Given the description of an element on the screen output the (x, y) to click on. 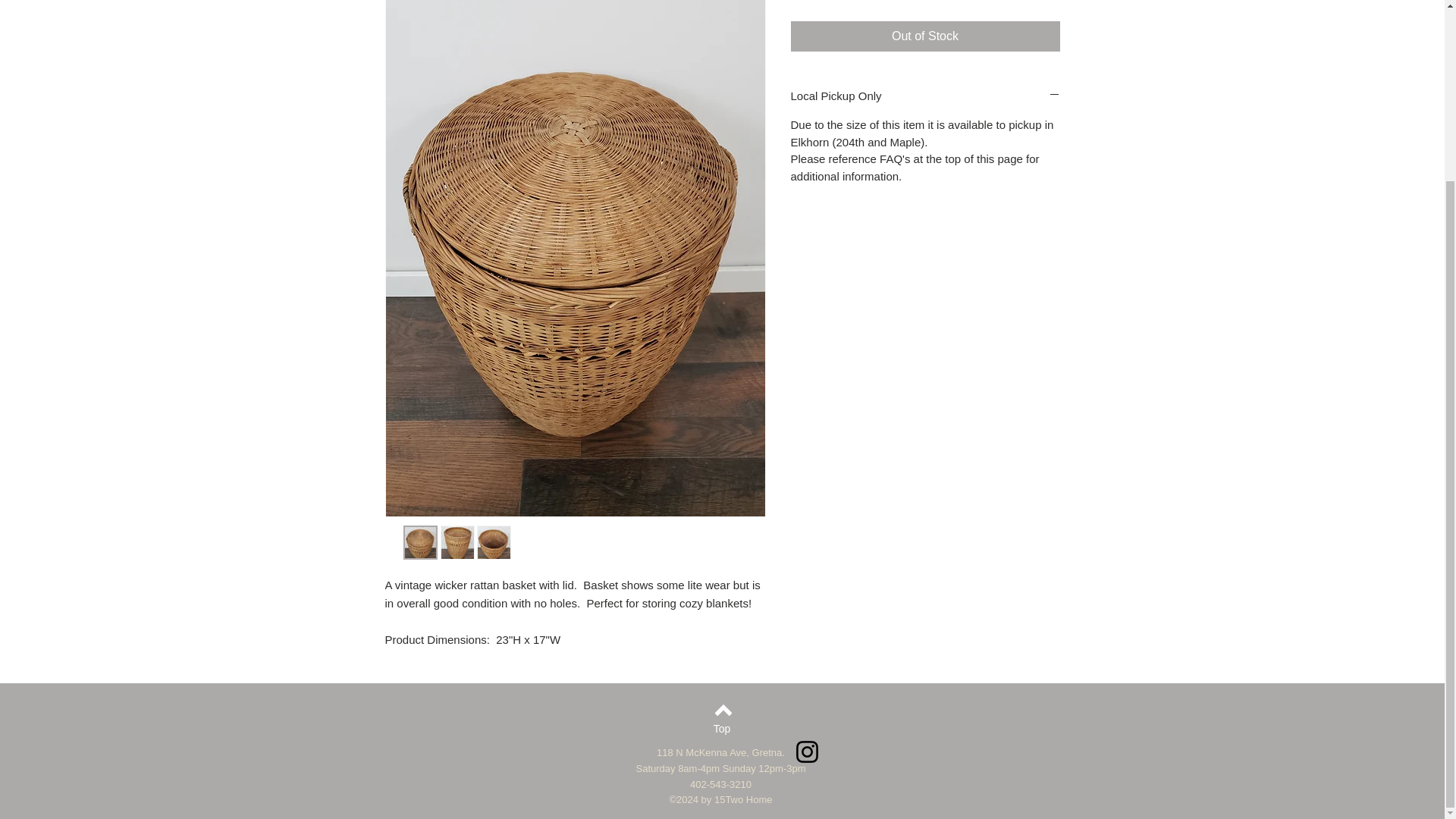
Local Pickup Only (924, 95)
Top (721, 729)
Out of Stock (924, 36)
